Given the description of an element on the screen output the (x, y) to click on. 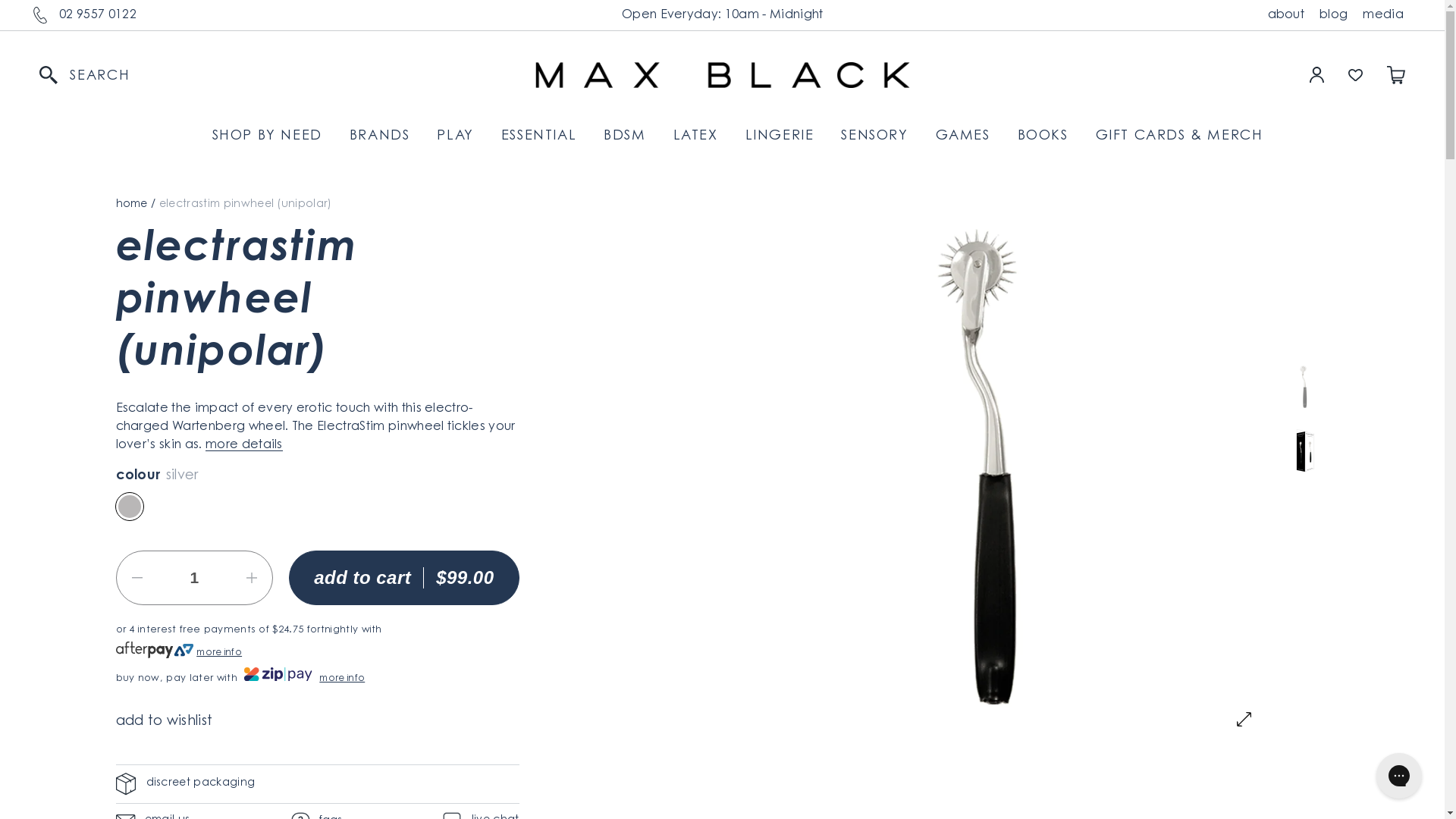
about Element type: text (1286, 15)
02 9557 0122 Element type: text (97, 15)
media Element type: text (1383, 15)
BRANDS Element type: text (379, 136)
SHOP BY NEED Element type: text (267, 136)
PLAY Element type: text (454, 136)
home Element type: text (131, 204)
Silver Element type: hover (128, 506)
blog Element type: text (1333, 15)
Gorgias live chat messenger Element type: hover (1398, 775)
LINGERIE Element type: text (779, 136)
add to cart
$99.00 Element type: text (403, 577)
BOOKS Element type: text (1042, 136)
more info Element type: text (341, 678)
more info Element type: text (218, 652)
SENSORY Element type: text (873, 136)
more details Element type: text (243, 444)
BDSM Element type: text (624, 136)
GIFT CARDS & MERCH Element type: text (1179, 136)
GAMES Element type: text (962, 136)
ESSENTIAL Element type: text (538, 136)
LATEX Element type: text (695, 136)
